Given the description of an element on the screen output the (x, y) to click on. 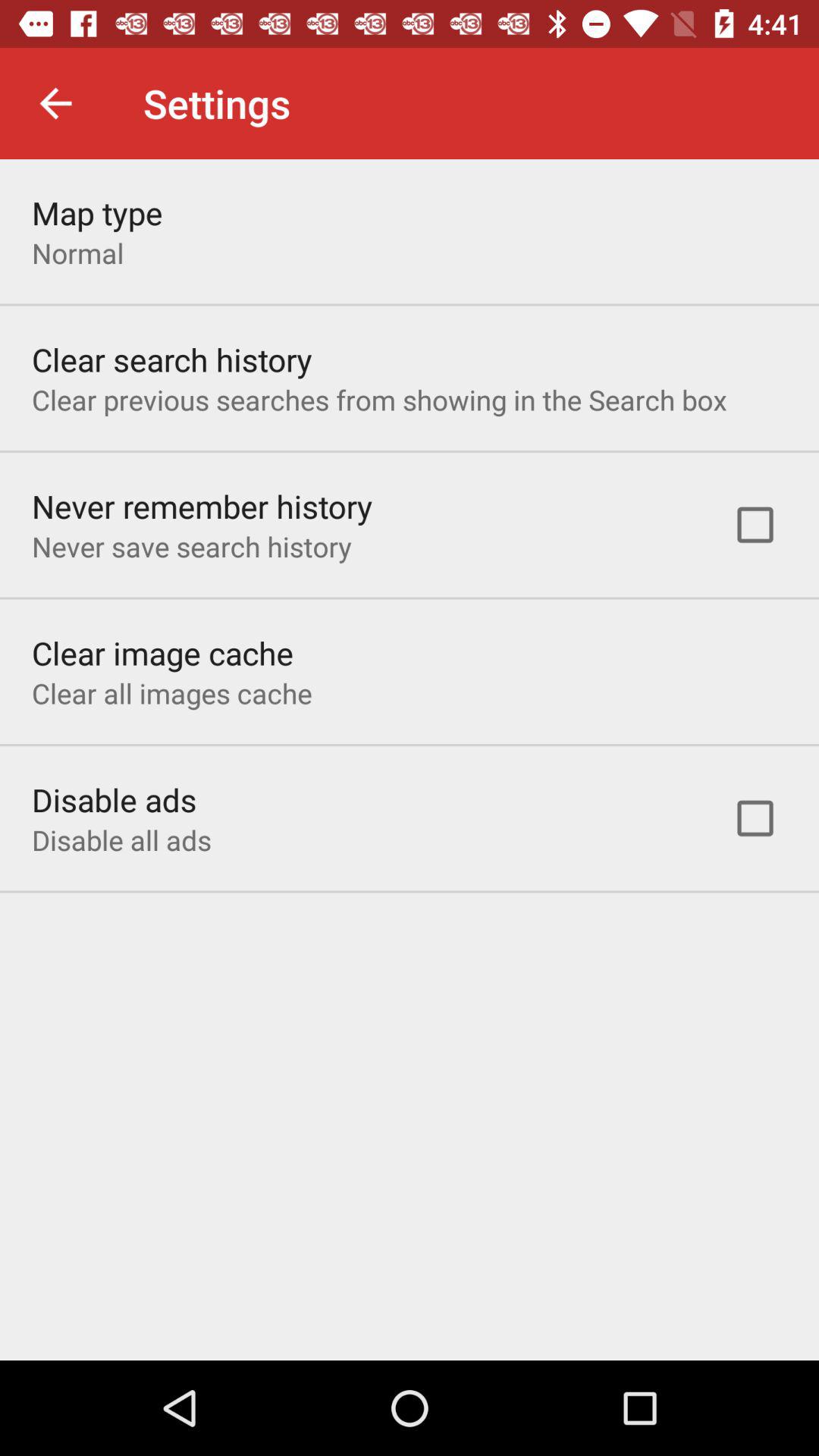
launch icon below never remember history (191, 546)
